Given the description of an element on the screen output the (x, y) to click on. 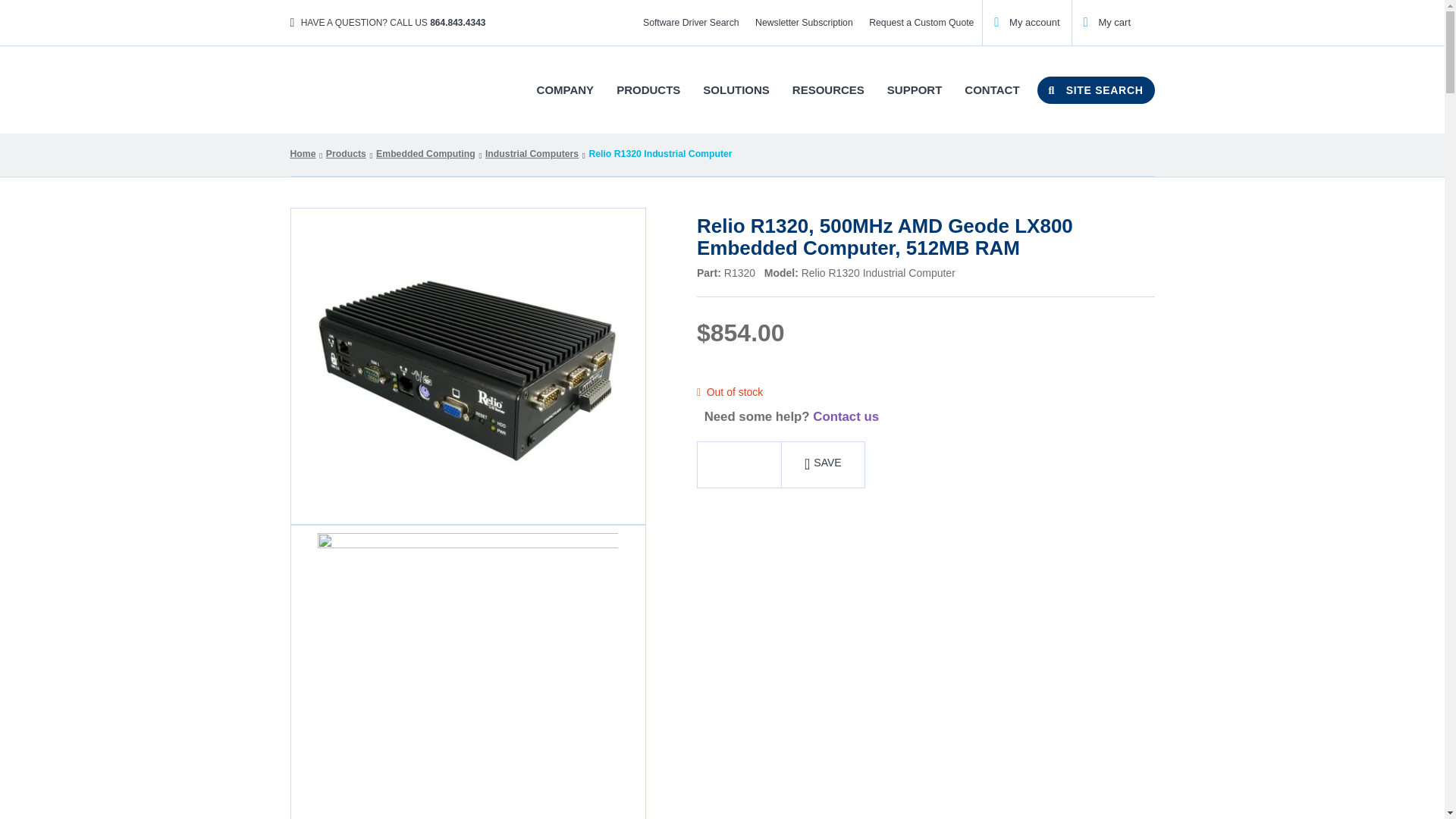
Newsletter Subscription (803, 22)
My cart (1106, 21)
Request a Custom Quote (920, 22)
SOLUTIONS (735, 89)
COMPANY (565, 89)
PRODUCTS (648, 89)
Software Driver Search (690, 22)
R1320-1.jpg (468, 672)
My account (1026, 21)
864.843.4343 (456, 22)
